Given the description of an element on the screen output the (x, y) to click on. 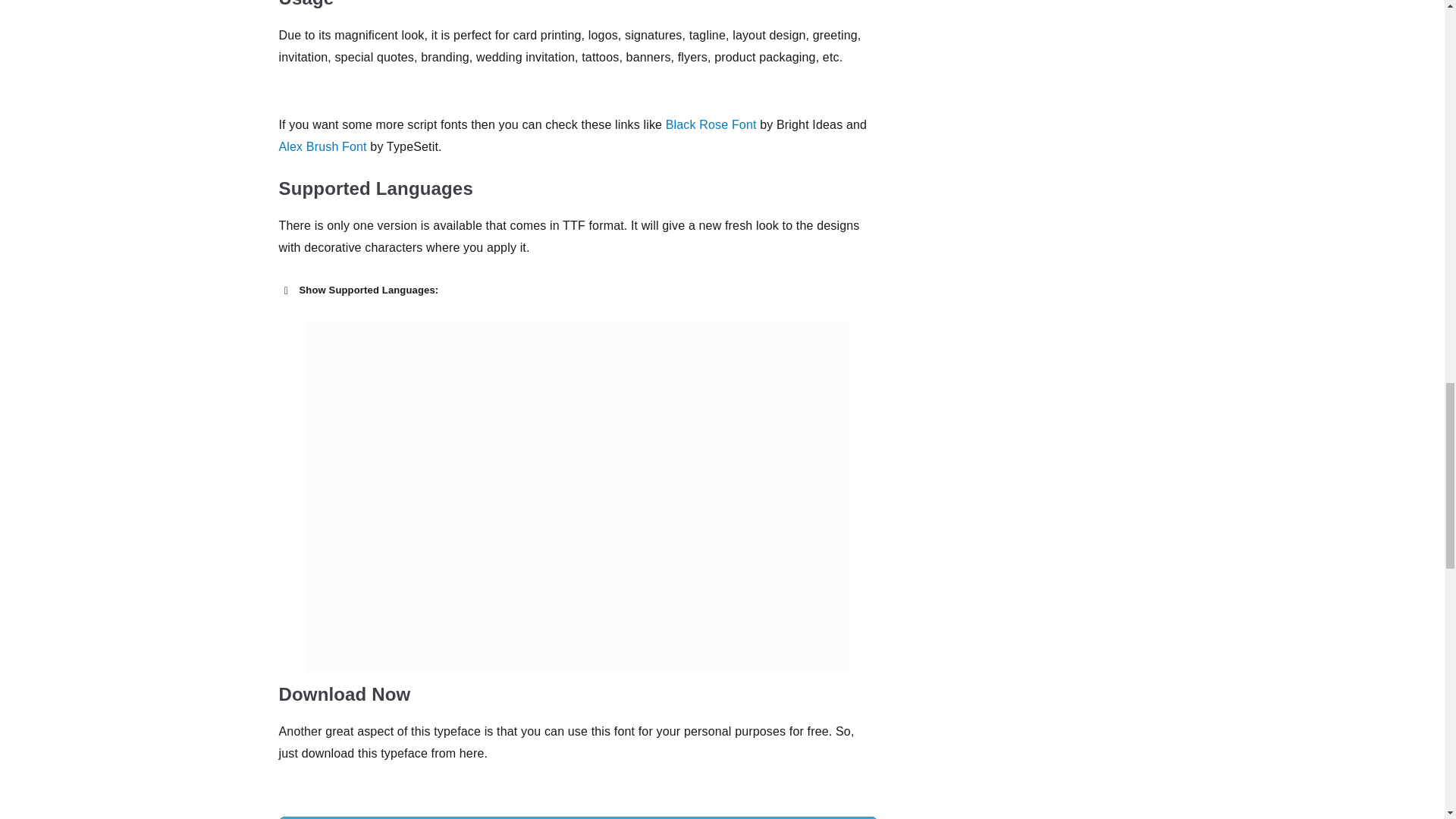
Black Rose Font (711, 124)
Alex Brush Font (322, 146)
